Given the description of an element on the screen output the (x, y) to click on. 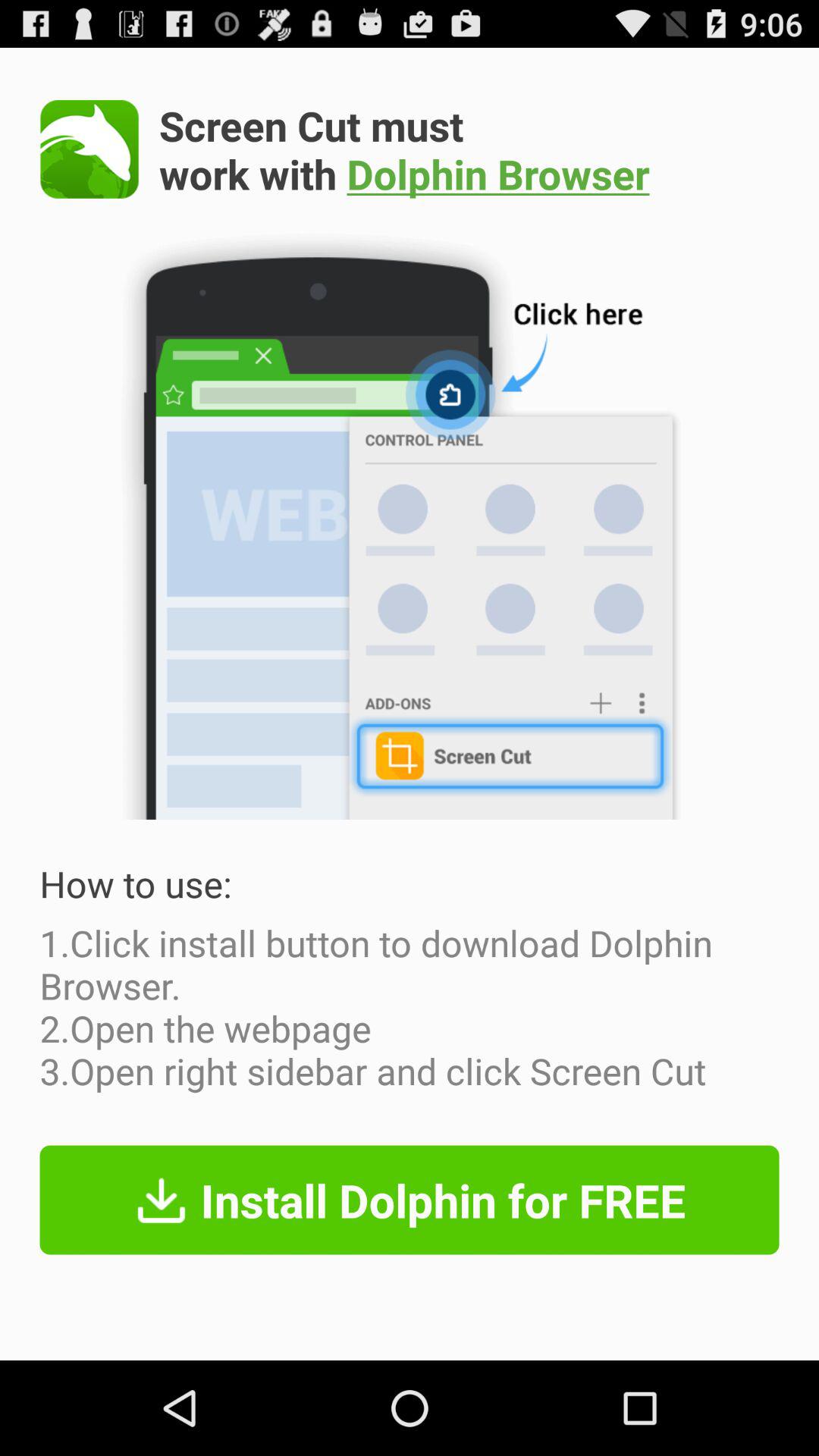
choose the icon to the left of the screen cut must app (89, 149)
